Given the description of an element on the screen output the (x, y) to click on. 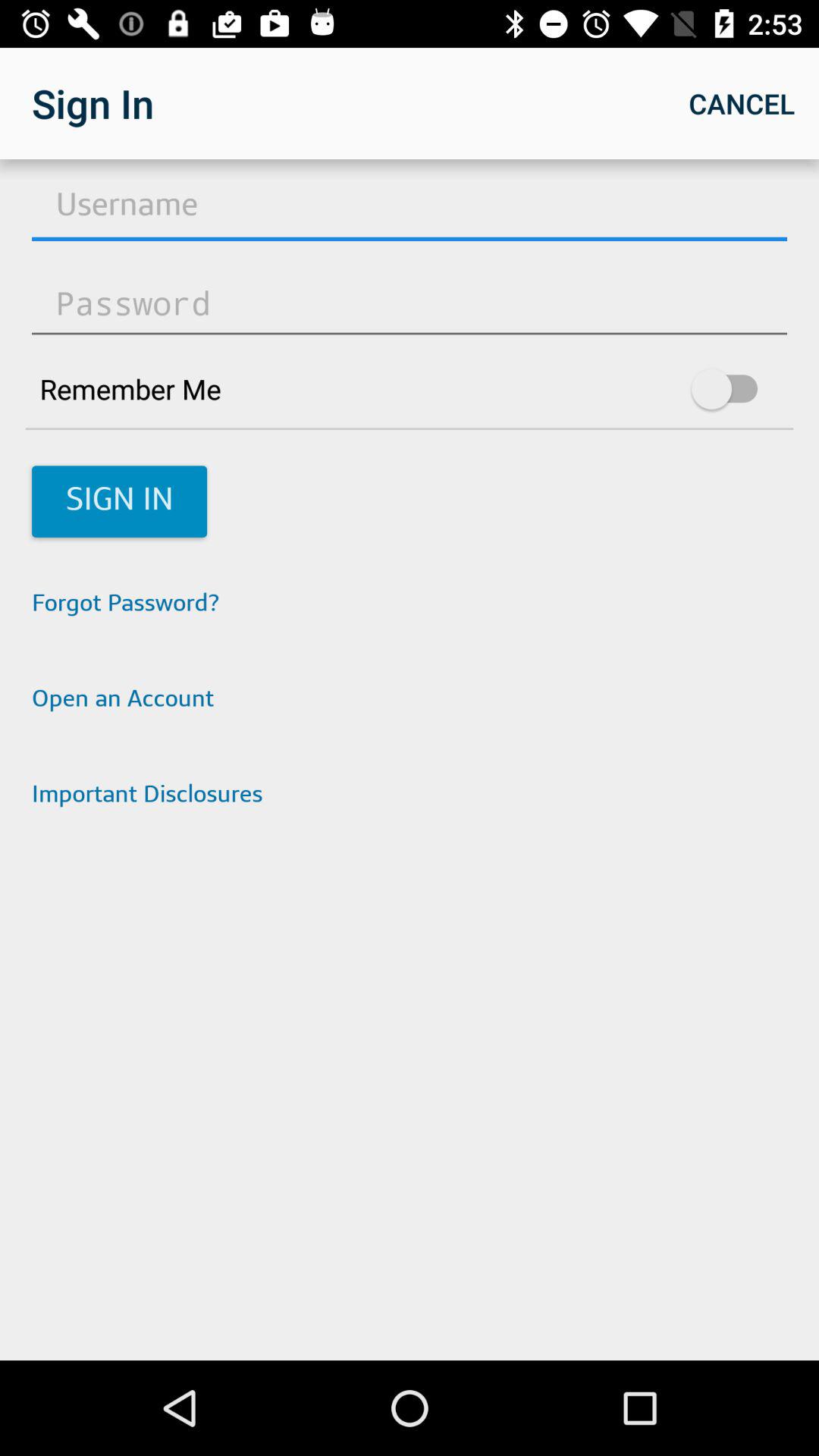
jump until open an account item (409, 700)
